Given the description of an element on the screen output the (x, y) to click on. 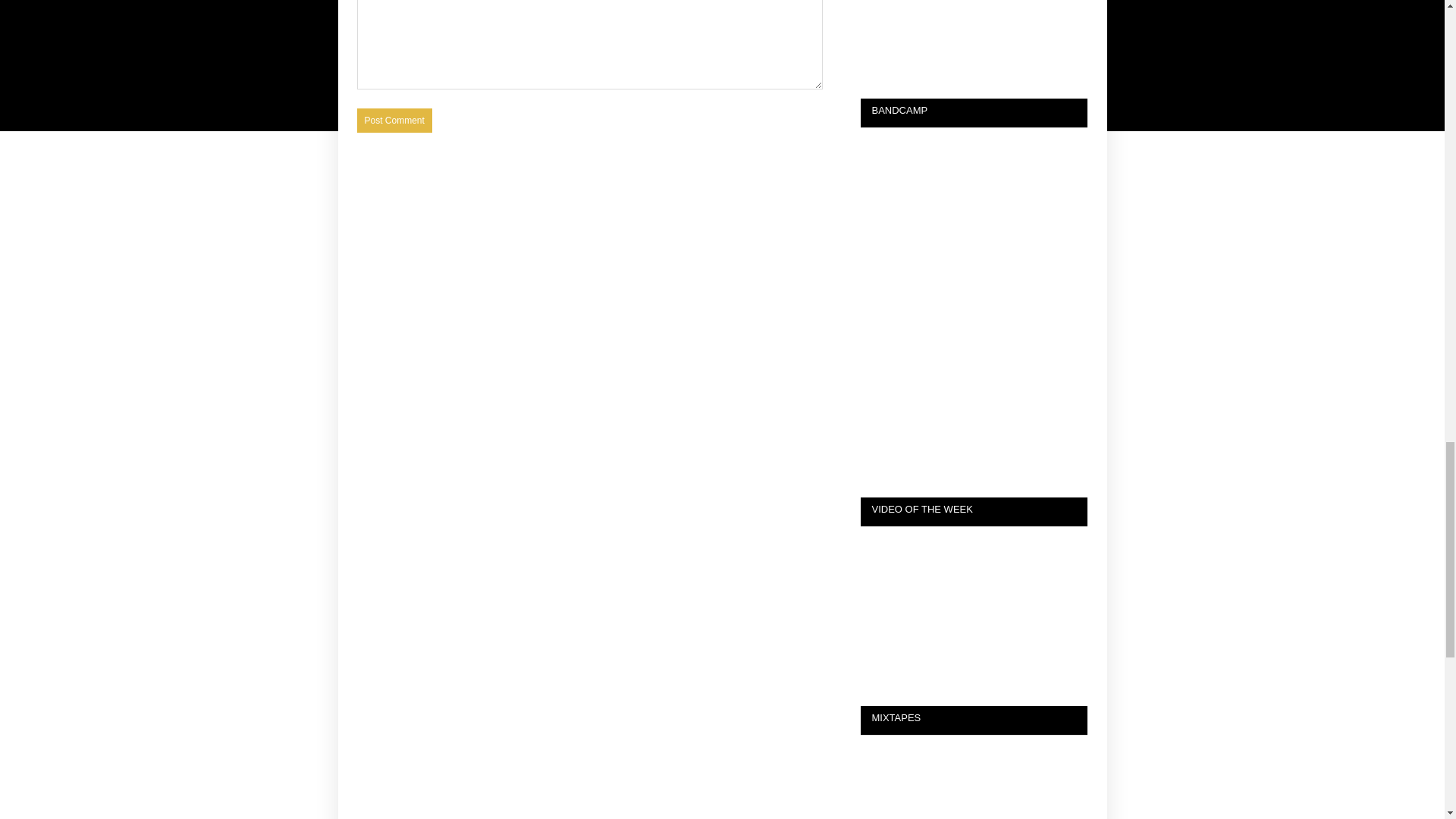
Post Comment (393, 120)
YouTube video player (973, 600)
